Given the description of an element on the screen output the (x, y) to click on. 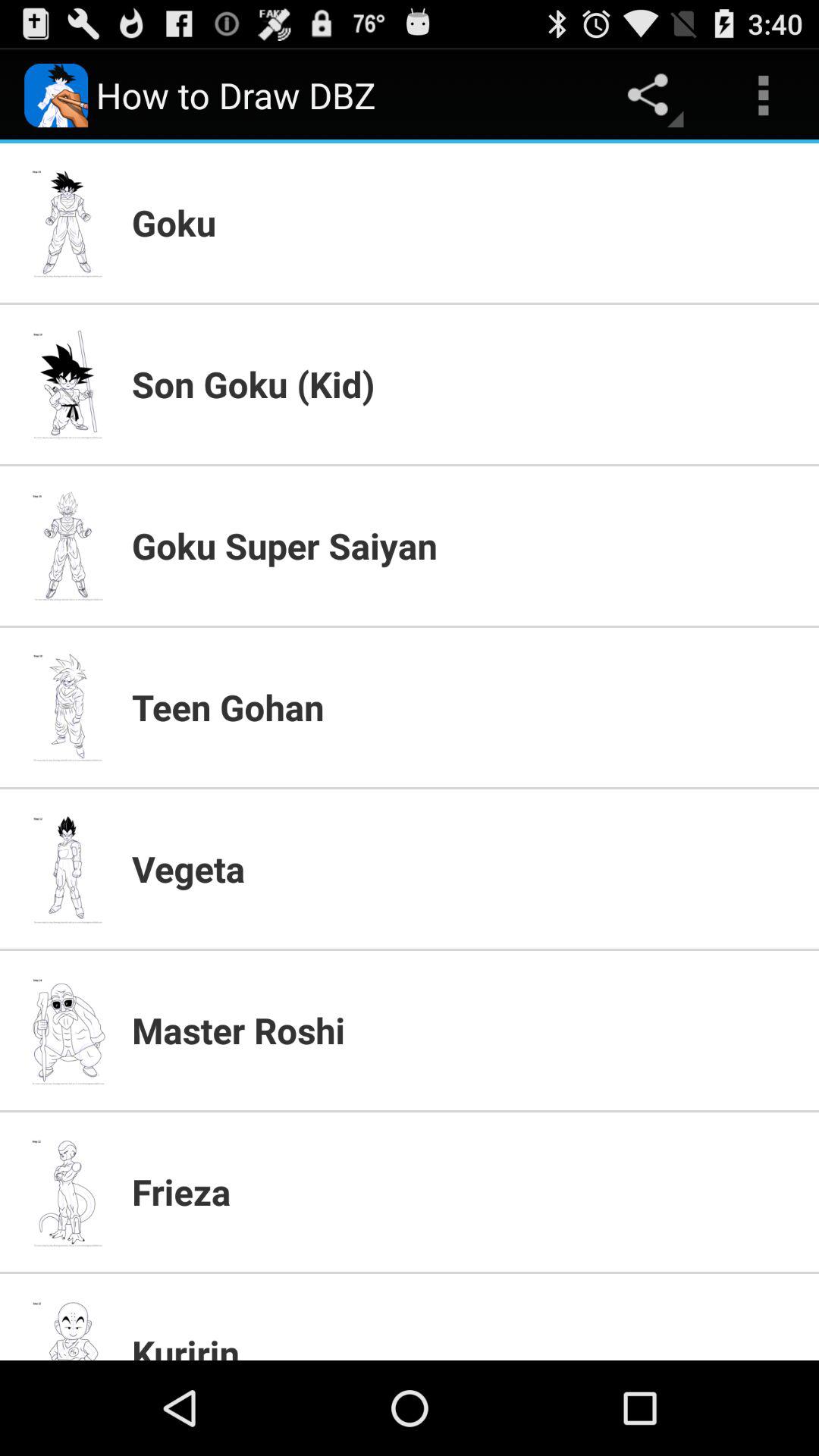
launch item above master roshi (465, 868)
